Given the description of an element on the screen output the (x, y) to click on. 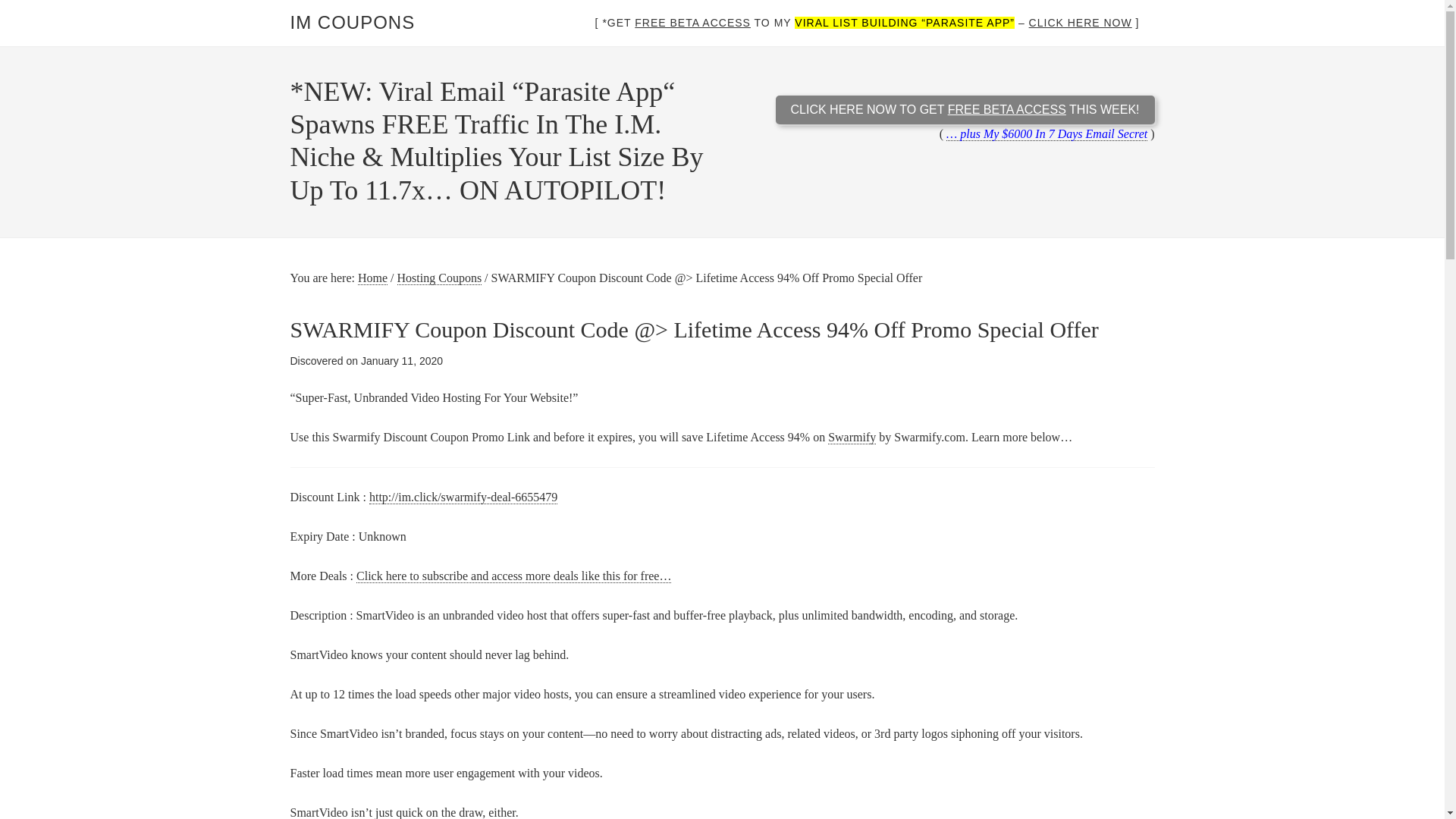
CLICK HERE NOW TO GET FREE BETA ACCESS THIS WEEK! (965, 121)
IM COUPONS (351, 22)
Swarmify (852, 437)
CLICK HERE NOW TO GET FREE BETA ACCESS THIS WEEK! (965, 109)
Hosting Coupons (439, 278)
Home (372, 278)
